Given the description of an element on the screen output the (x, y) to click on. 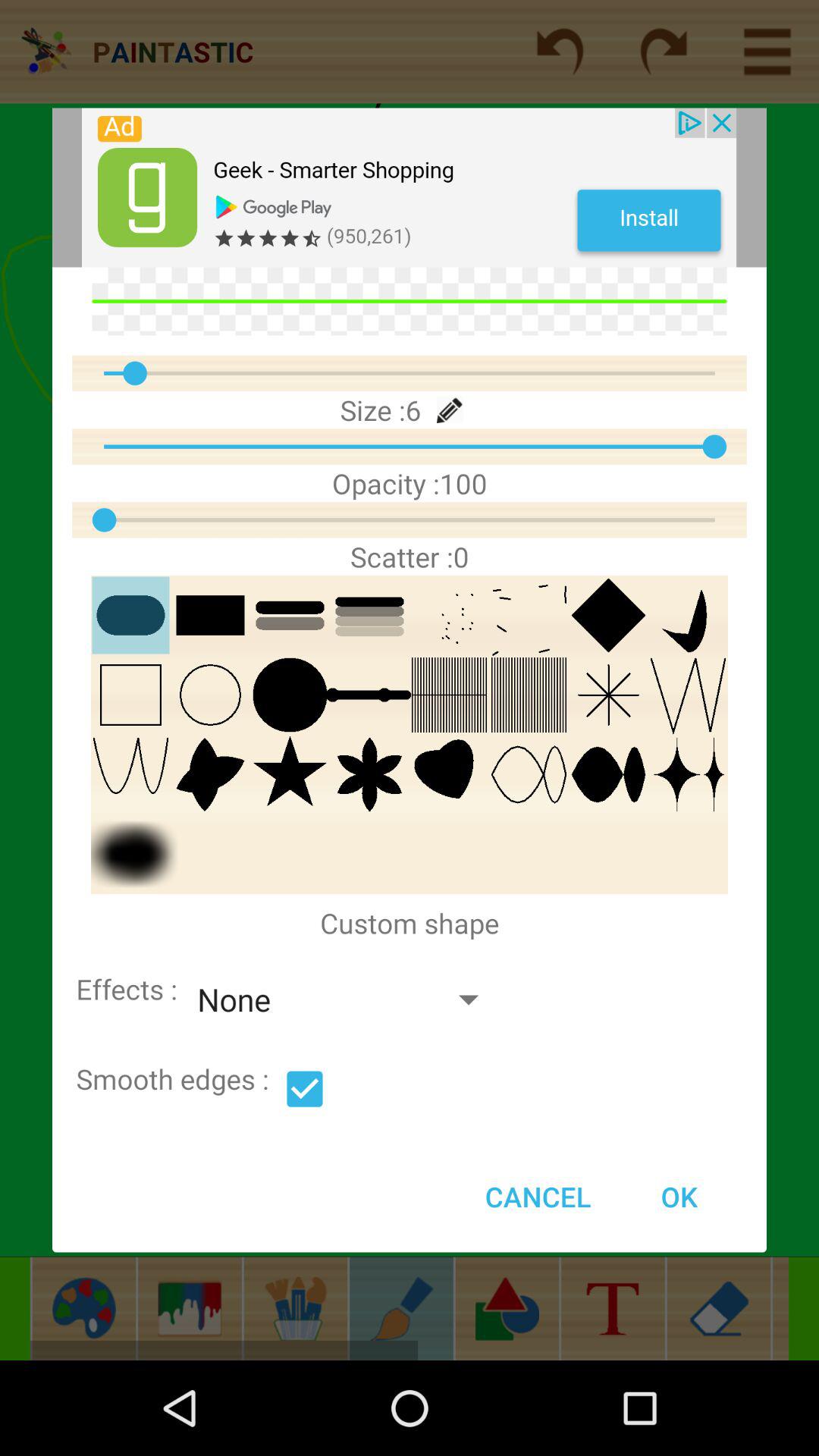
smoothe edge (304, 1089)
